Given the description of an element on the screen output the (x, y) to click on. 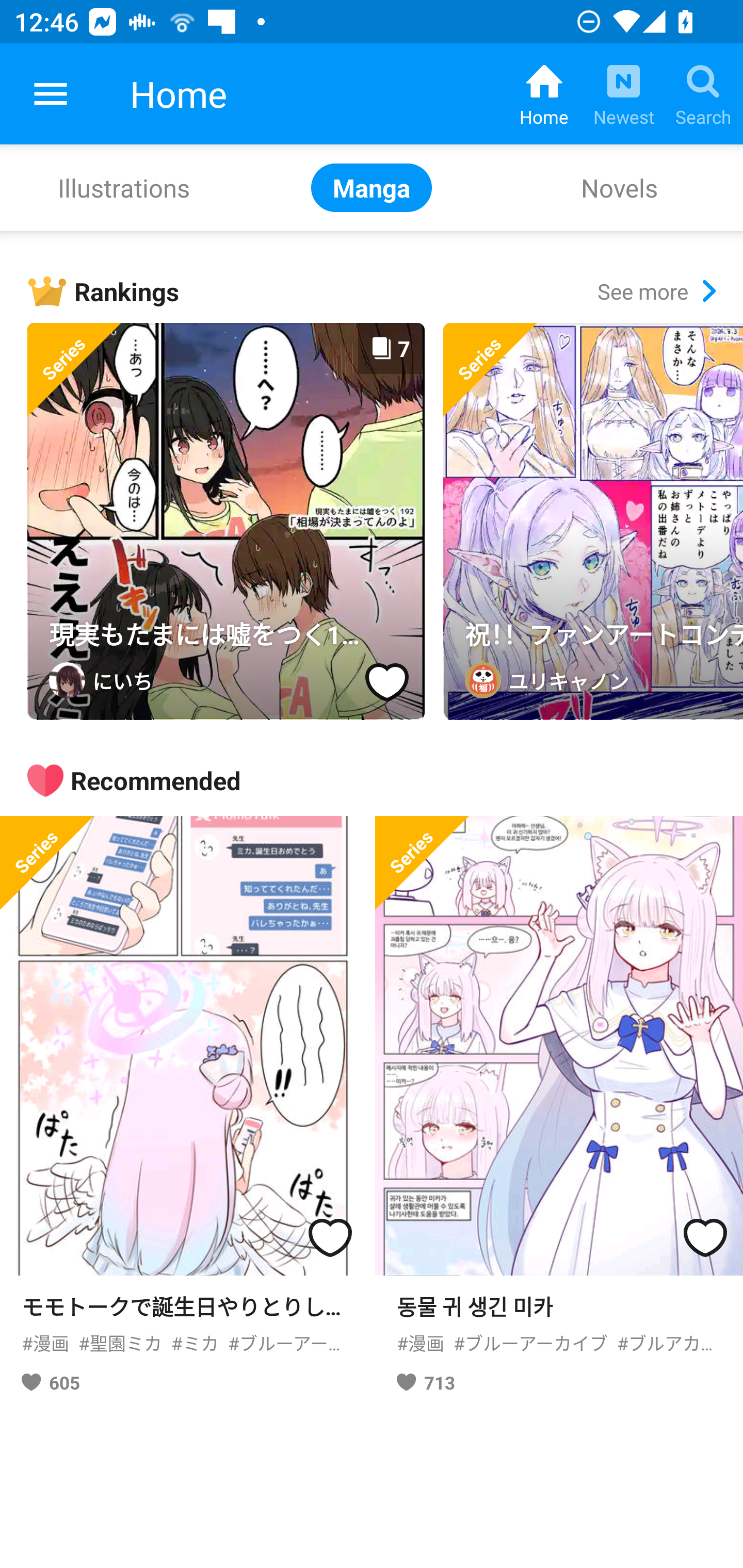
pixiv (50, 93)
Newest (623, 93)
Search (703, 93)
Illustrations (123, 187)
Manga (371, 187)
Novels (619, 187)
Rankings See more (385, 291)
Series 7 (225, 521)
Series (74, 370)
Series (593, 521)
Series (490, 370)
Series (46, 862)
Series 동물 귀 생긴 미카 #漫画  #ブルーアーカイブ  #ブルアカ  #聖園ミカ 713 (559, 1112)
Series (421, 862)
